Given the description of an element on the screen output the (x, y) to click on. 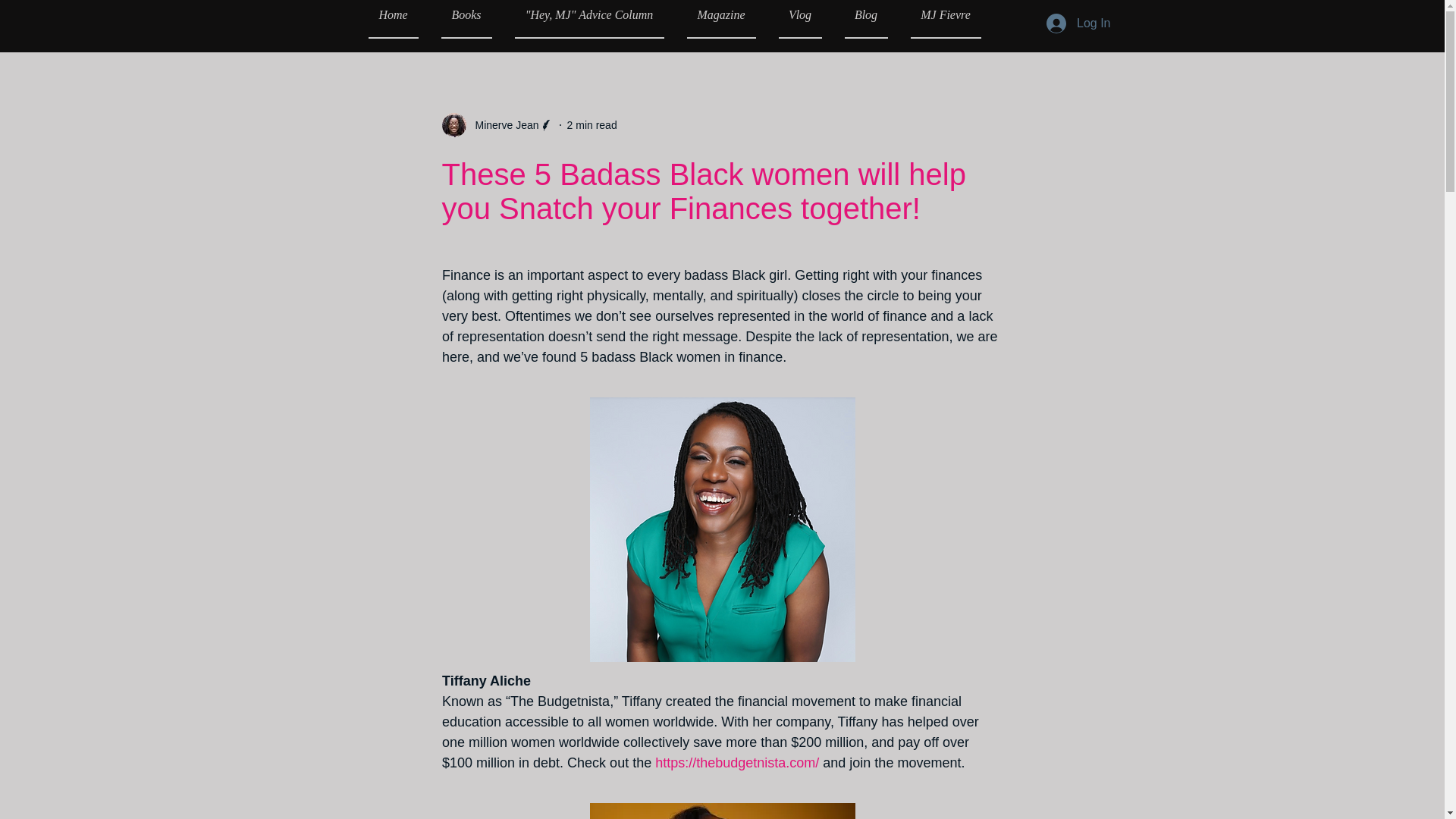
Minerve Jean (497, 125)
"Hey, MJ" Advice Column (589, 19)
2 min read (592, 123)
Vlog (799, 19)
Home (398, 19)
Blog (865, 19)
Log In (1078, 23)
Minerve Jean (501, 124)
